Given the description of an element on the screen output the (x, y) to click on. 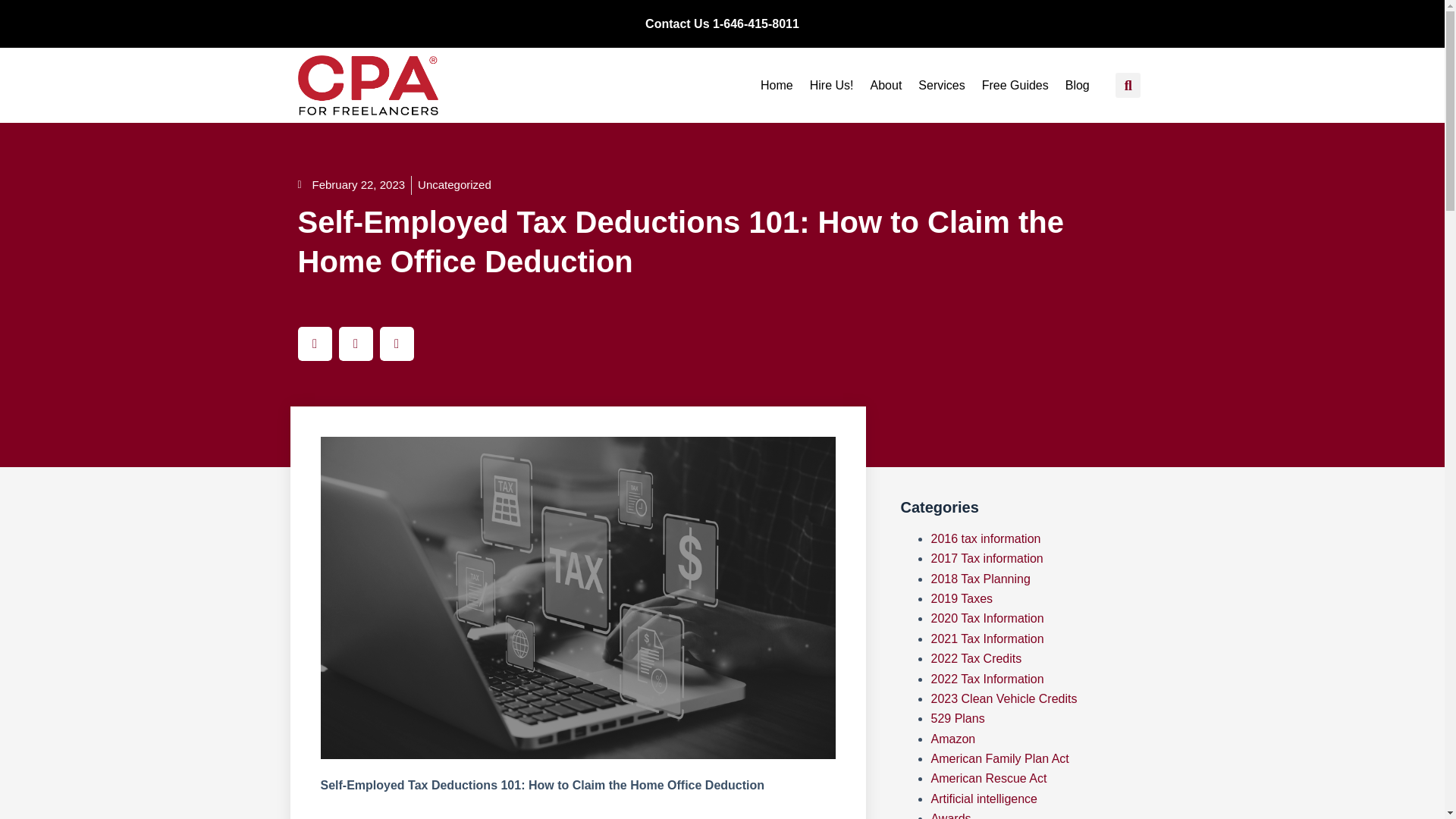
Skip to content (15, 7)
Home (776, 85)
Free Guides (1015, 85)
About (886, 85)
1-646-415-8011 (756, 23)
Hire Us! (831, 85)
Services (941, 85)
Blog (1077, 85)
